Given the description of an element on the screen output the (x, y) to click on. 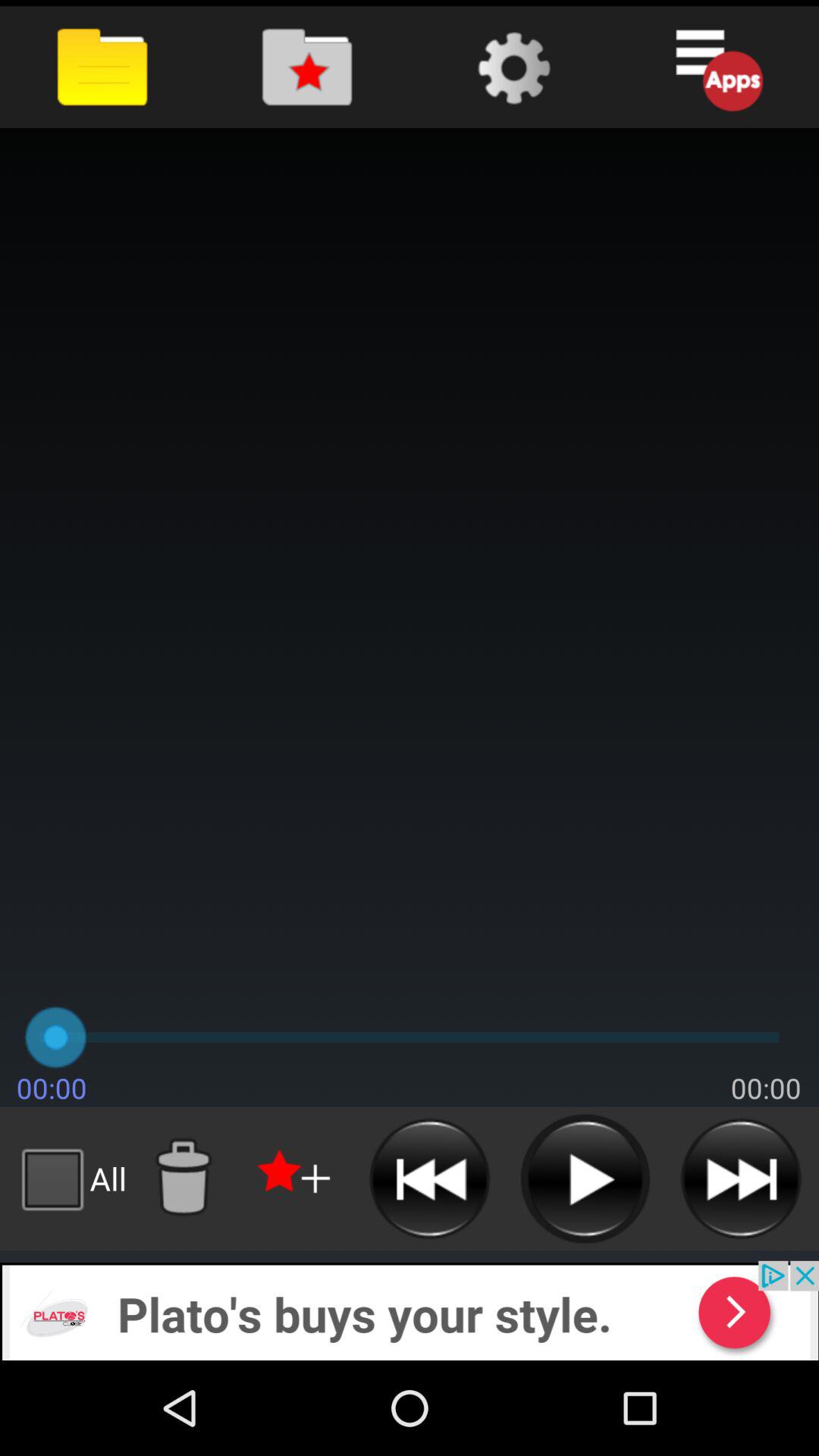
play (584, 1178)
